Given the description of an element on the screen output the (x, y) to click on. 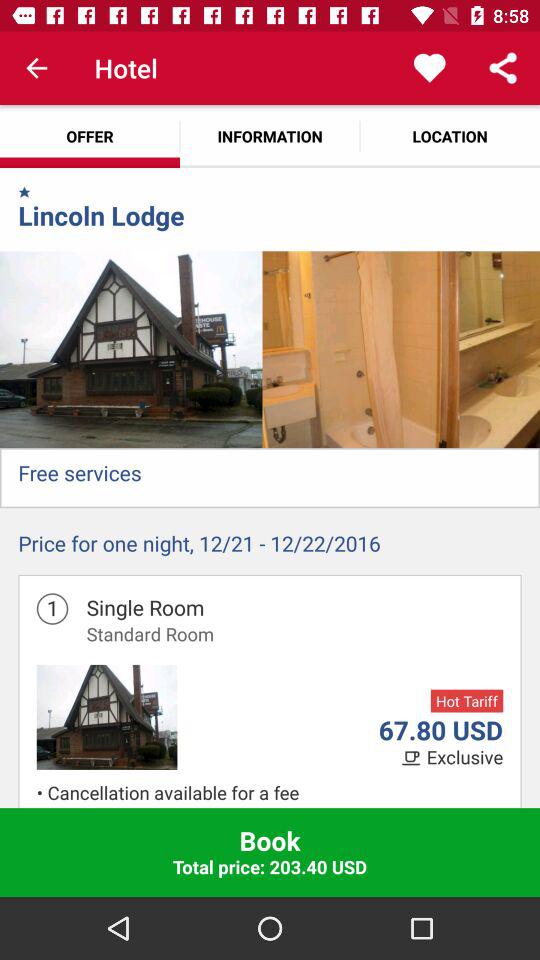
press the icon above standard room icon (145, 607)
